Given the description of an element on the screen output the (x, y) to click on. 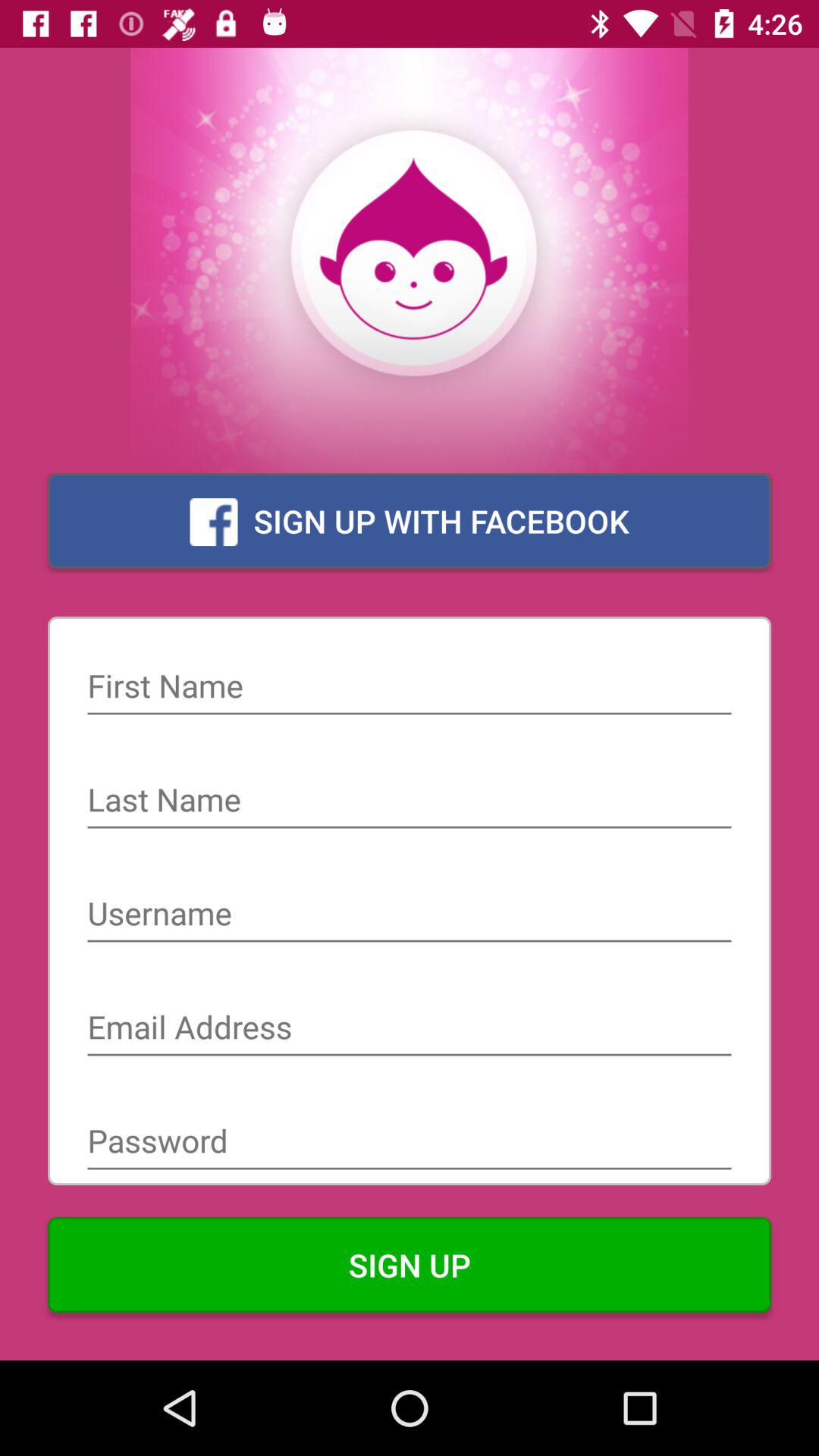
form field for your first name (409, 687)
